Given the description of an element on the screen output the (x, y) to click on. 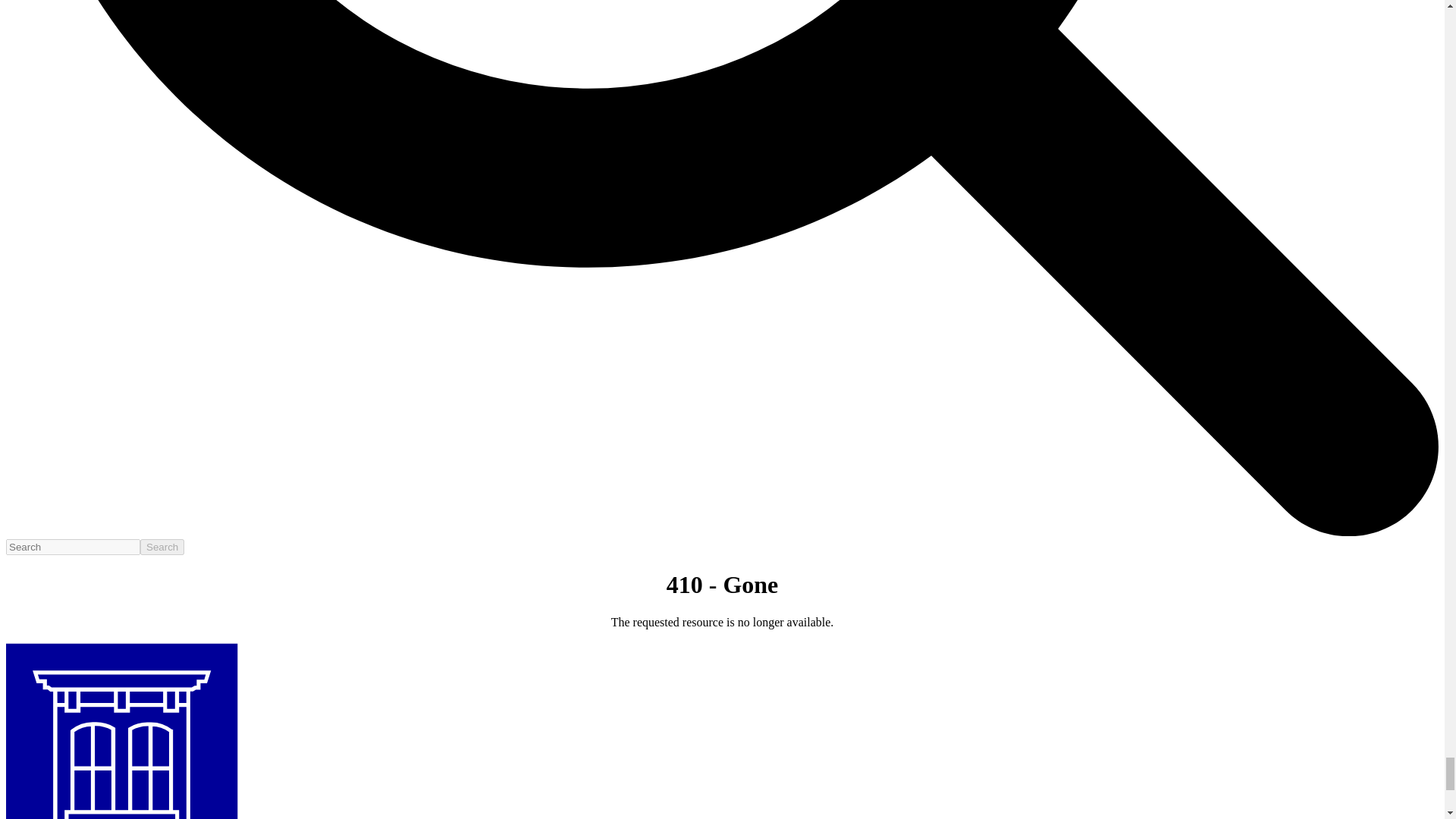
Search (161, 546)
